Given the description of an element on the screen output the (x, y) to click on. 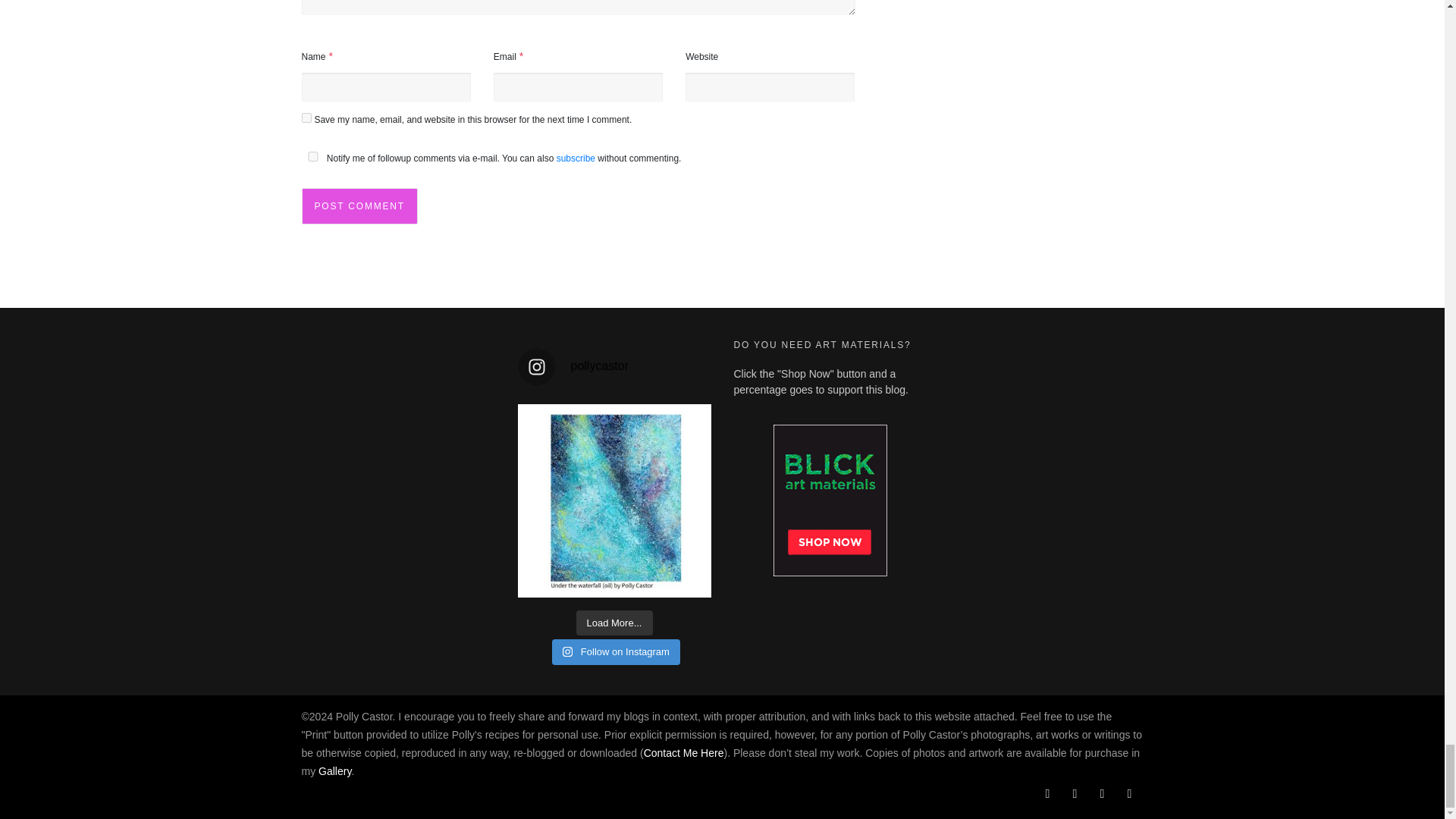
yes (312, 156)
Post comment (359, 206)
yes (306, 117)
